Given the description of an element on the screen output the (x, y) to click on. 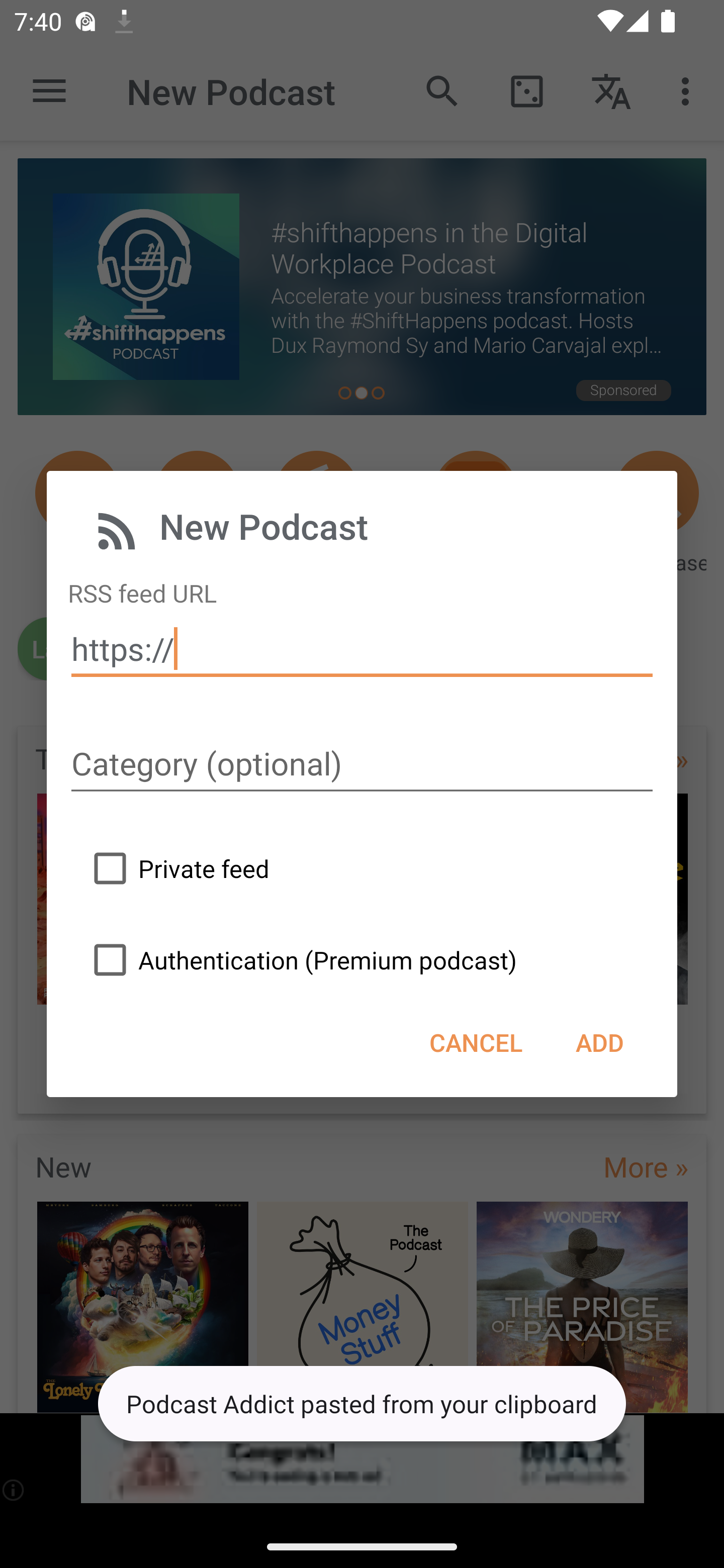
https:// (361, 648)
Category (optional) (361, 764)
Private feed (175, 868)
Authentication (Premium podcast) (299, 959)
CANCEL (475, 1042)
ADD (599, 1042)
